Given the description of an element on the screen output the (x, y) to click on. 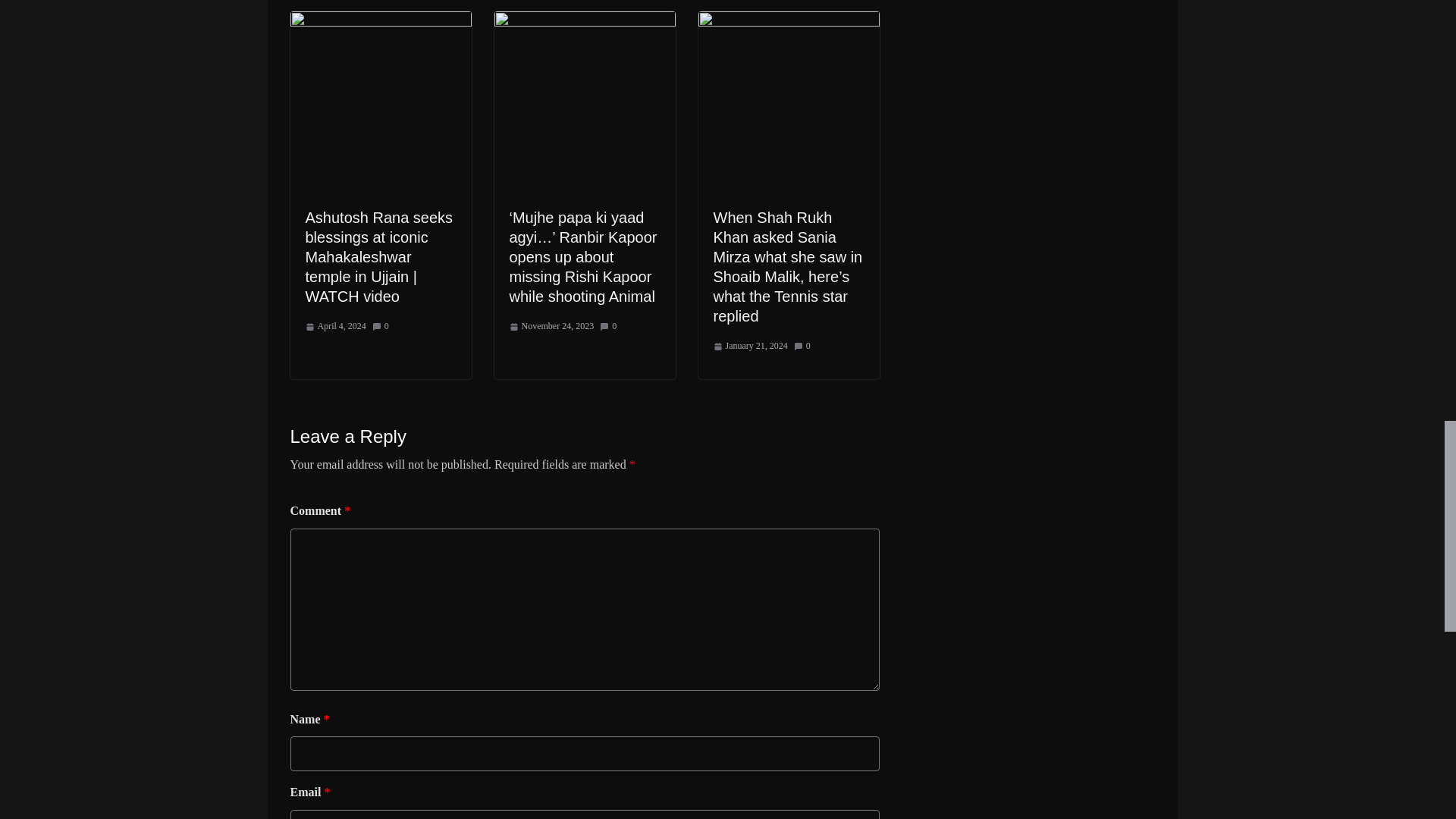
2:35 am (551, 326)
6:35 am (334, 326)
